Given the description of an element on the screen output the (x, y) to click on. 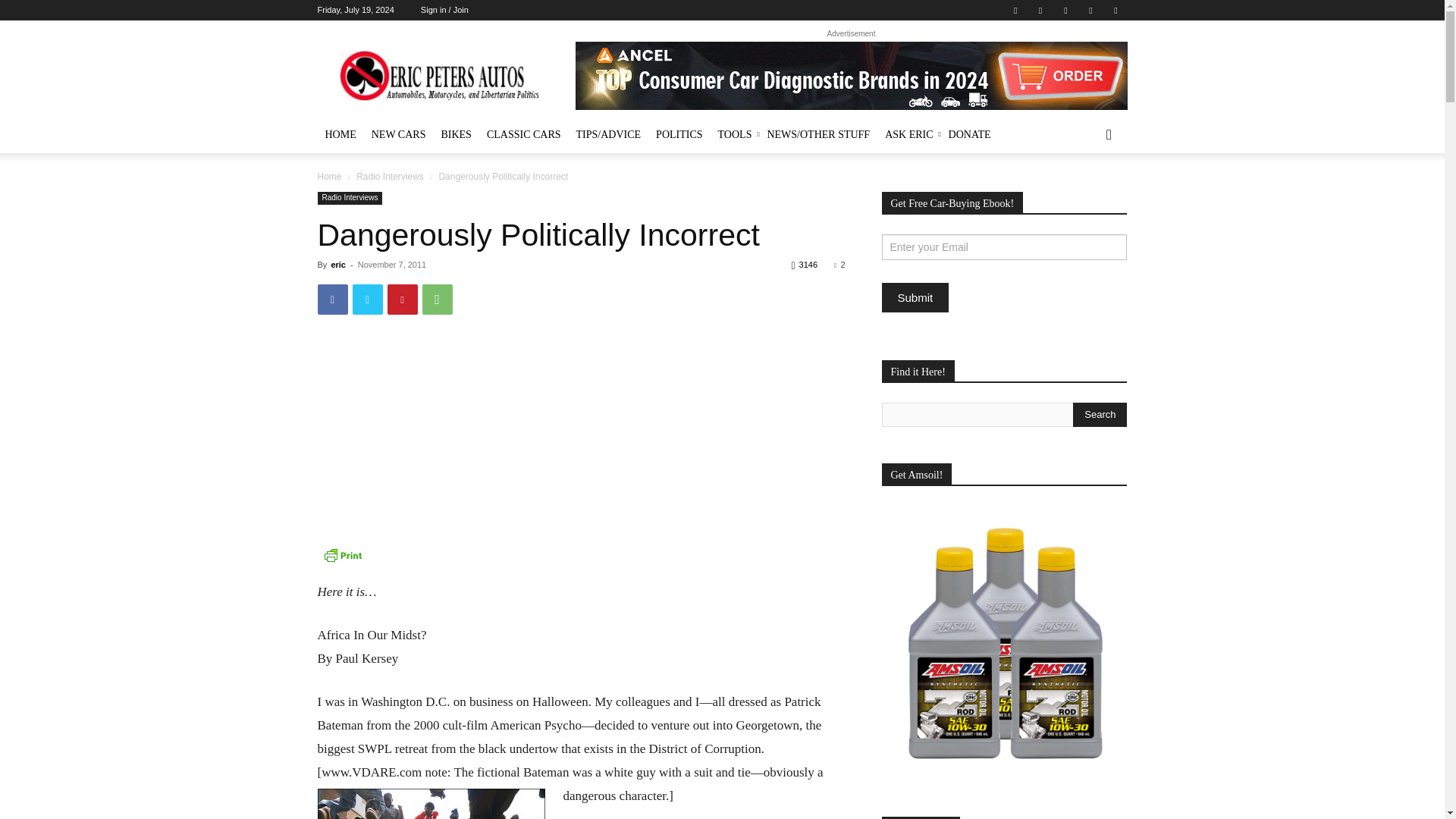
Vimeo (1065, 10)
Facebook (1015, 10)
Twitter (1040, 10)
VKontakte (1090, 10)
Search (1099, 414)
